Given the description of an element on the screen output the (x, y) to click on. 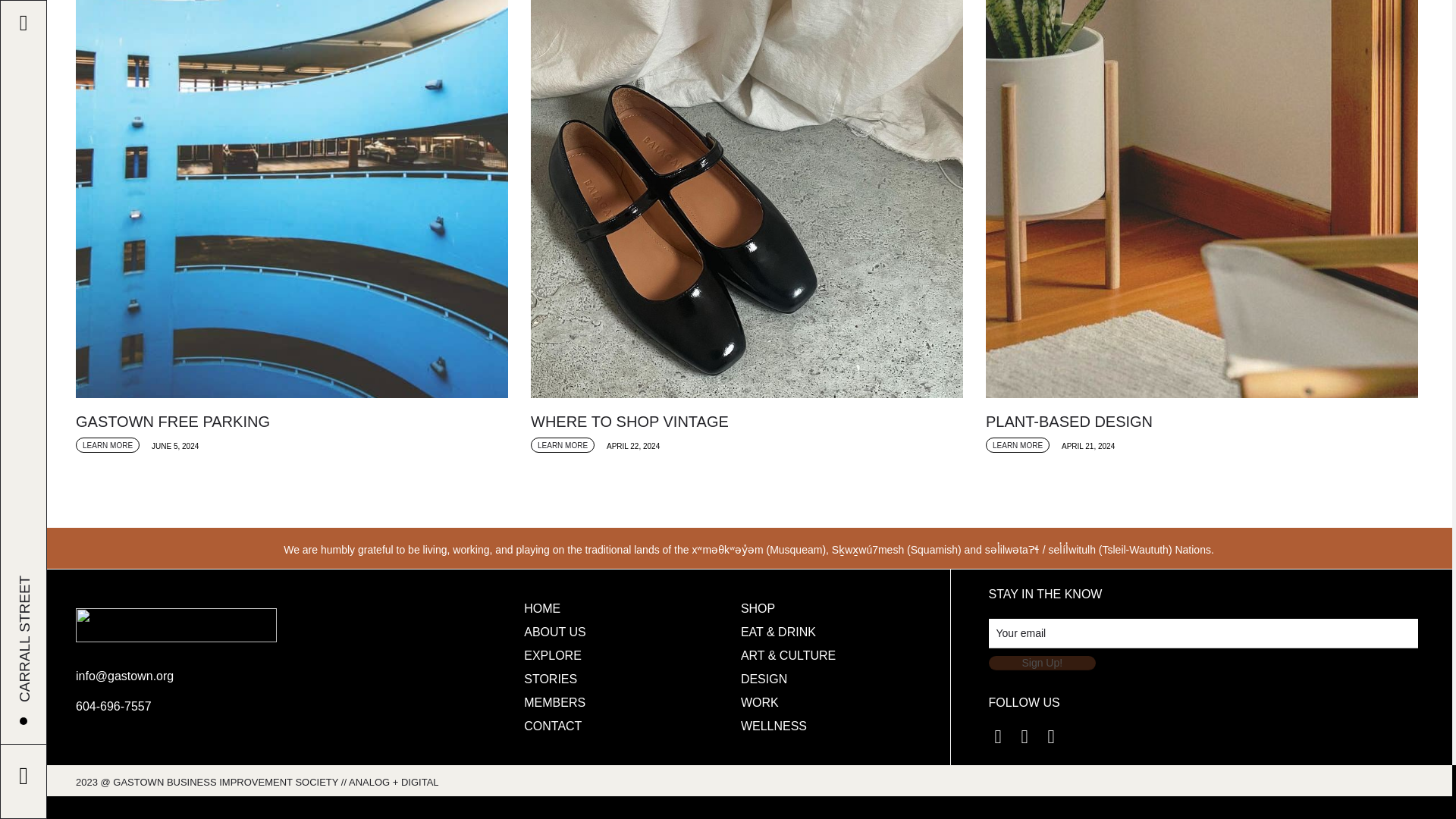
Sign Up! (1042, 663)
